Given the description of an element on the screen output the (x, y) to click on. 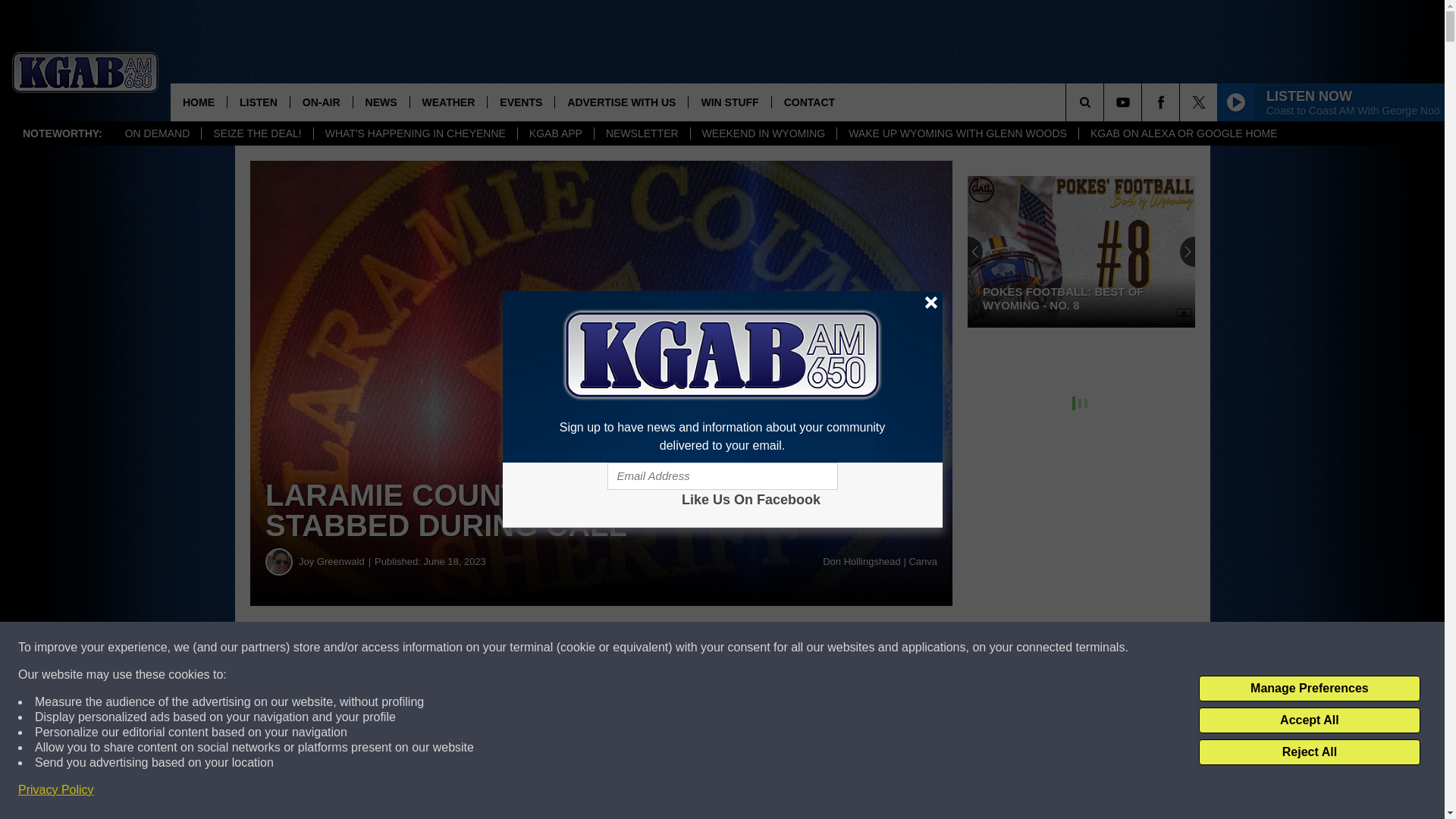
SEIZE THE DEAL! (256, 133)
HOME (198, 102)
Accept All (1309, 720)
WAKE UP WYOMING WITH GLENN WOODS (956, 133)
Privacy Policy (55, 789)
ON DEMAND (157, 133)
WHAT'S HAPPENING IN CHEYENNE (414, 133)
NEWS (380, 102)
Manage Preferences (1309, 688)
Share on Twitter (741, 647)
WEEKEND IN WYOMING (763, 133)
NOTEWORTHY: (62, 133)
NEWSLETTER (642, 133)
ON-AIR (320, 102)
SEARCH (1106, 102)
